Given the description of an element on the screen output the (x, y) to click on. 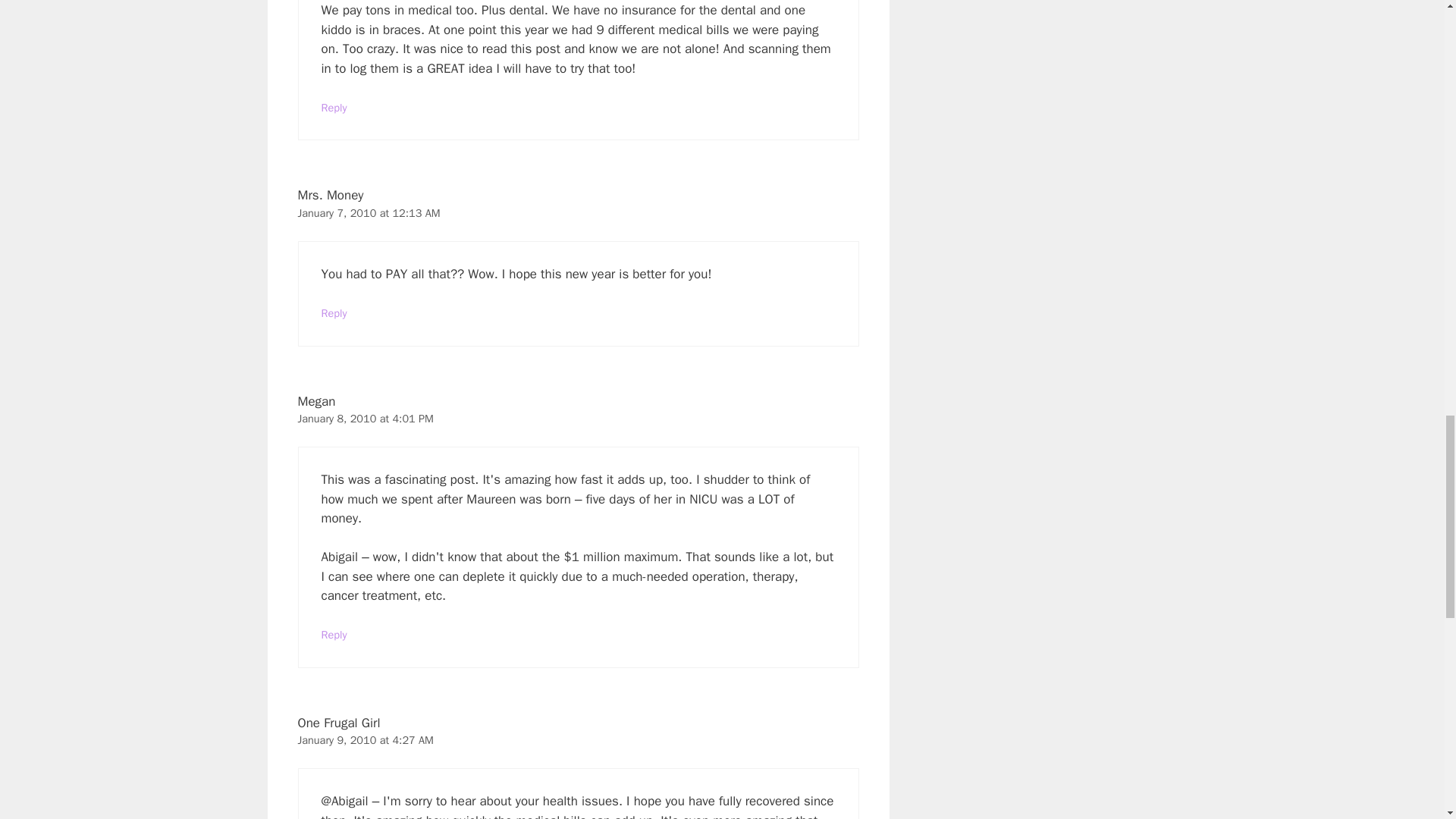
January 8, 2010 at 4:01 PM (364, 418)
Reply (334, 634)
Reply (334, 107)
Reply (334, 313)
January 7, 2010 at 12:13 AM (368, 213)
January 9, 2010 at 4:27 AM (364, 739)
